Given the description of an element on the screen output the (x, y) to click on. 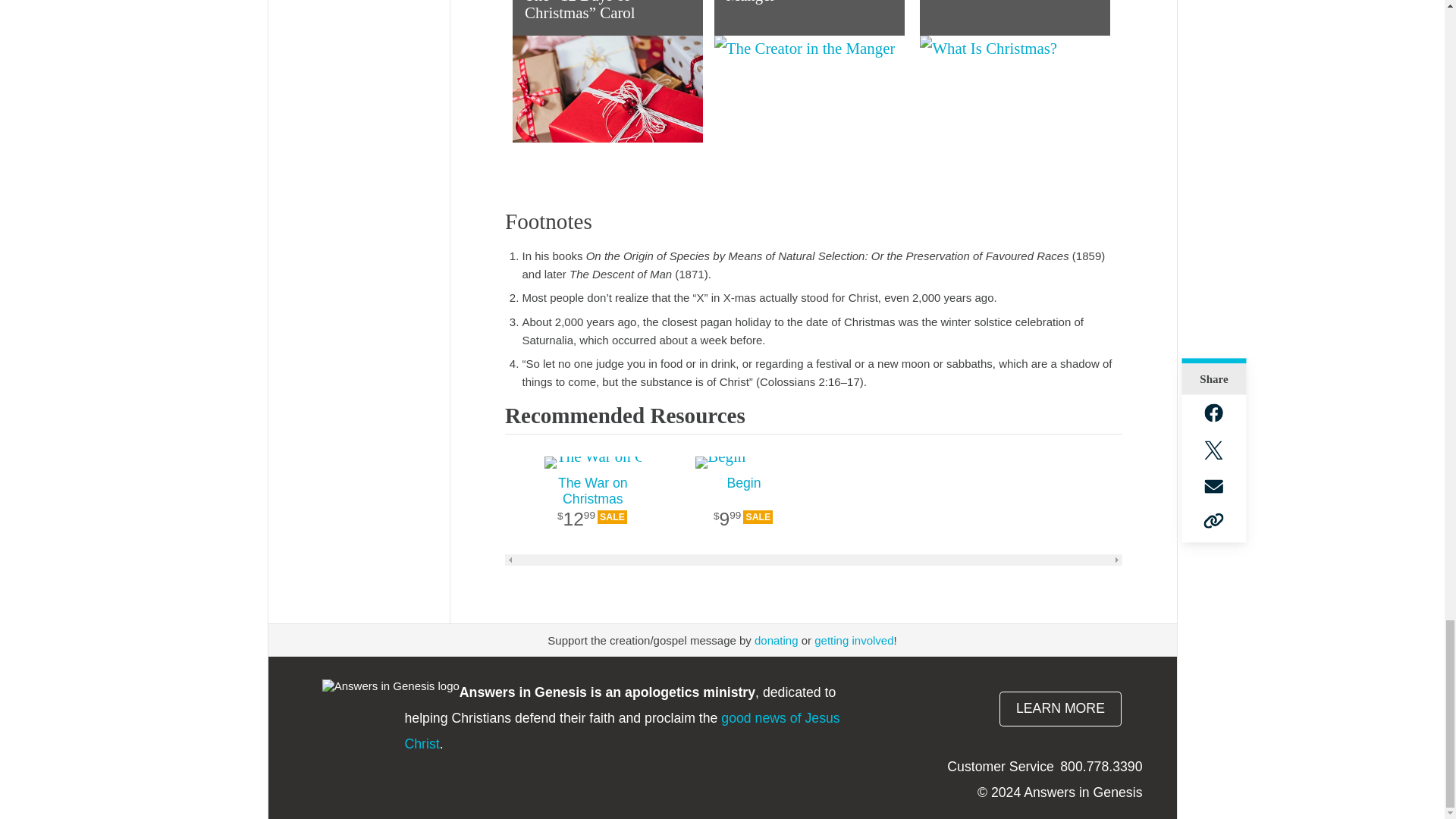
Begin (743, 511)
The War on Christmas (592, 511)
Begin (742, 462)
The War on Christmas (592, 462)
